Given the description of an element on the screen output the (x, y) to click on. 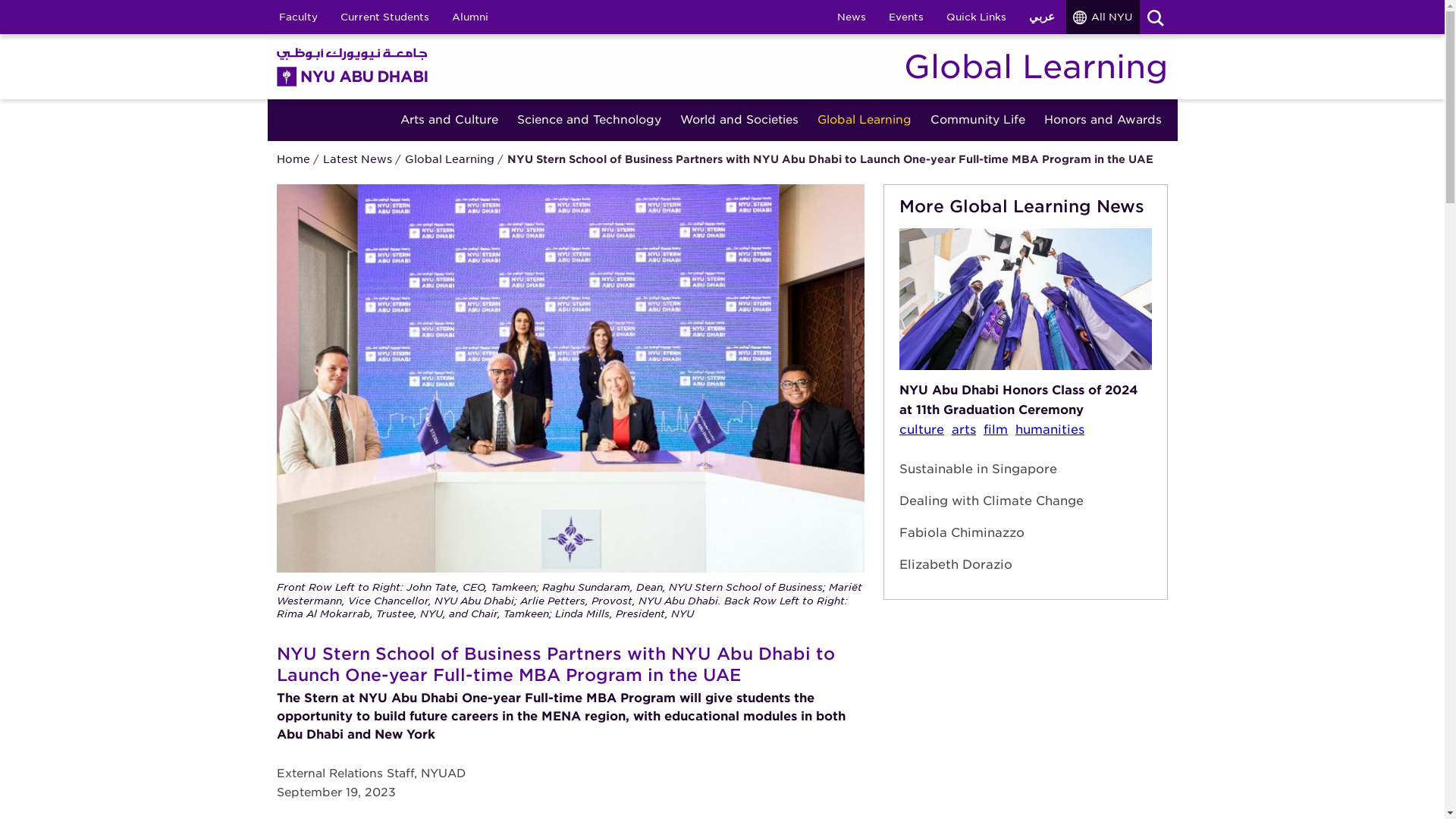
Current Students (385, 17)
Quick Links (975, 17)
New York University Abu Dhabi Home (352, 65)
News (850, 17)
All NYU (1102, 17)
Alumni (469, 17)
Faculty (297, 17)
Events (905, 17)
